Given the description of an element on the screen output the (x, y) to click on. 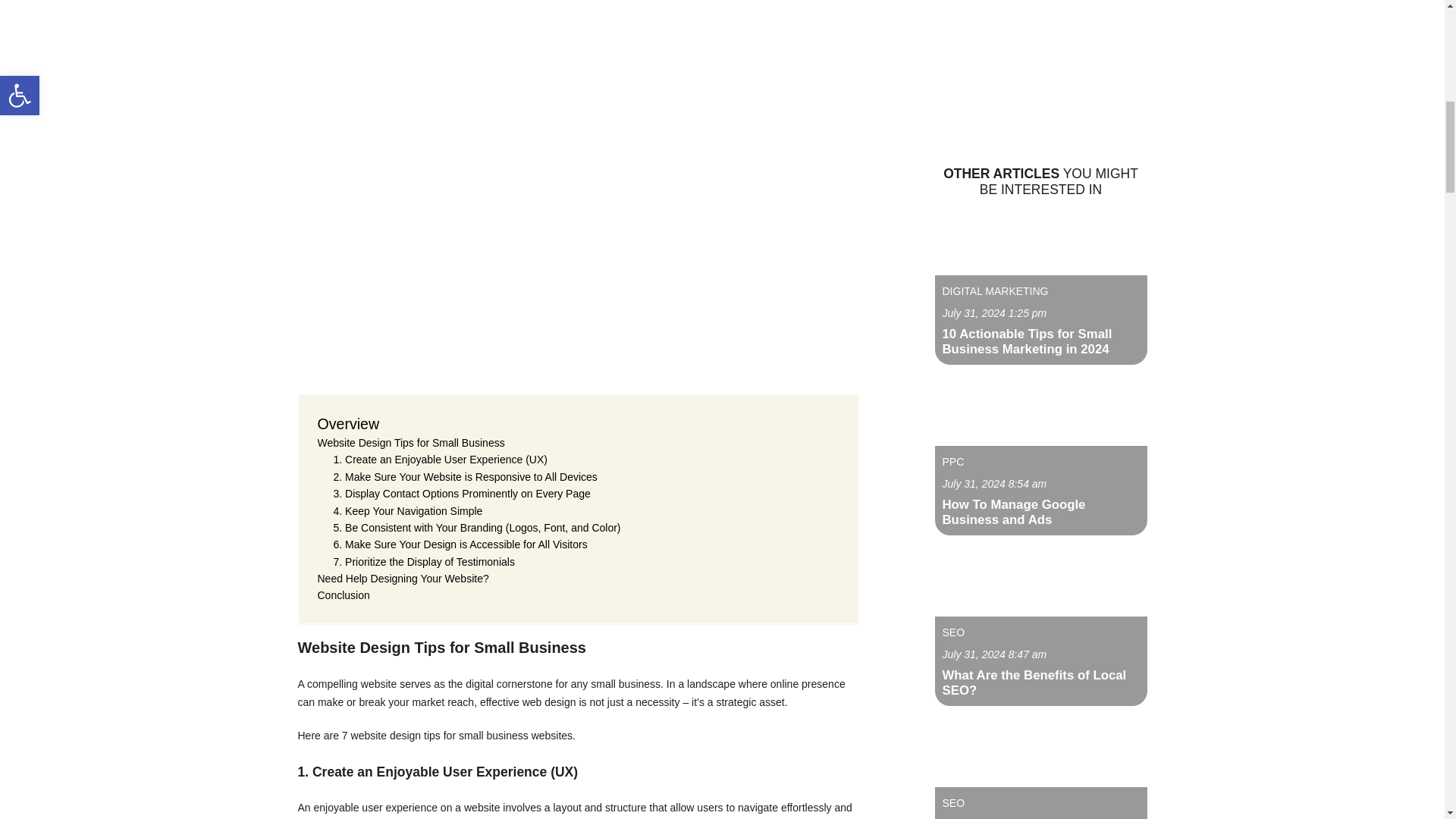
Need Help Designing Your Website? (402, 578)
Website Design Tips for Small Business (410, 442)
6. Make Sure Your Design is Accessible for All Visitors (460, 544)
Conclusion (343, 595)
6. Make Sure Your Design is Accessible for All Visitors (460, 544)
3. Display Contact Options Prominently on Every Page (462, 493)
7. Prioritize the Display of Testimonials (424, 561)
Need Help Designing Your Website? (402, 578)
Website Design Tips for Small Business (410, 442)
2. Make Sure Your Website is Responsive to All Devices (464, 476)
